Given the description of an element on the screen output the (x, y) to click on. 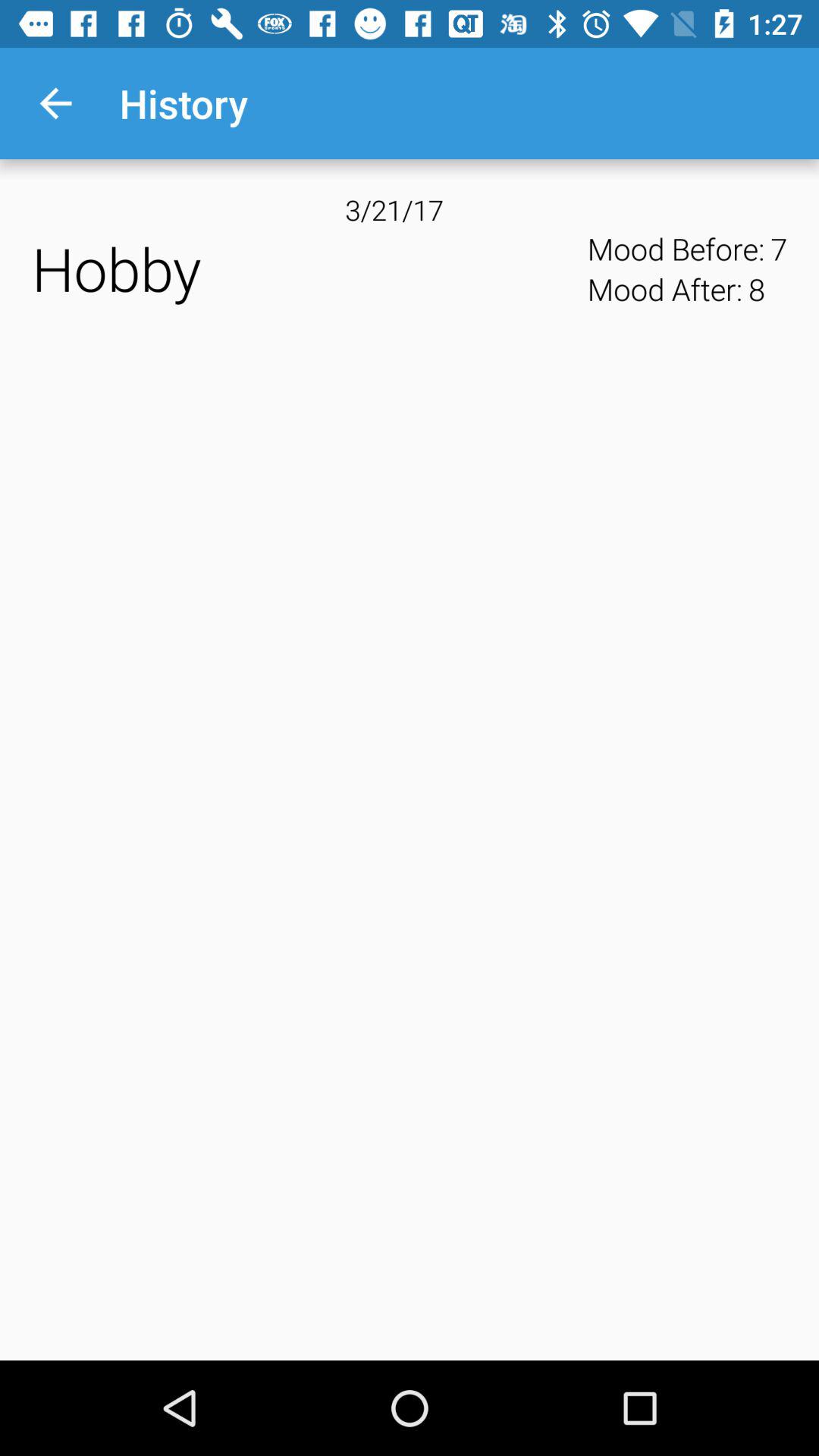
turn on icon to the left of the mood before: app (304, 268)
